Given the description of an element on the screen output the (x, y) to click on. 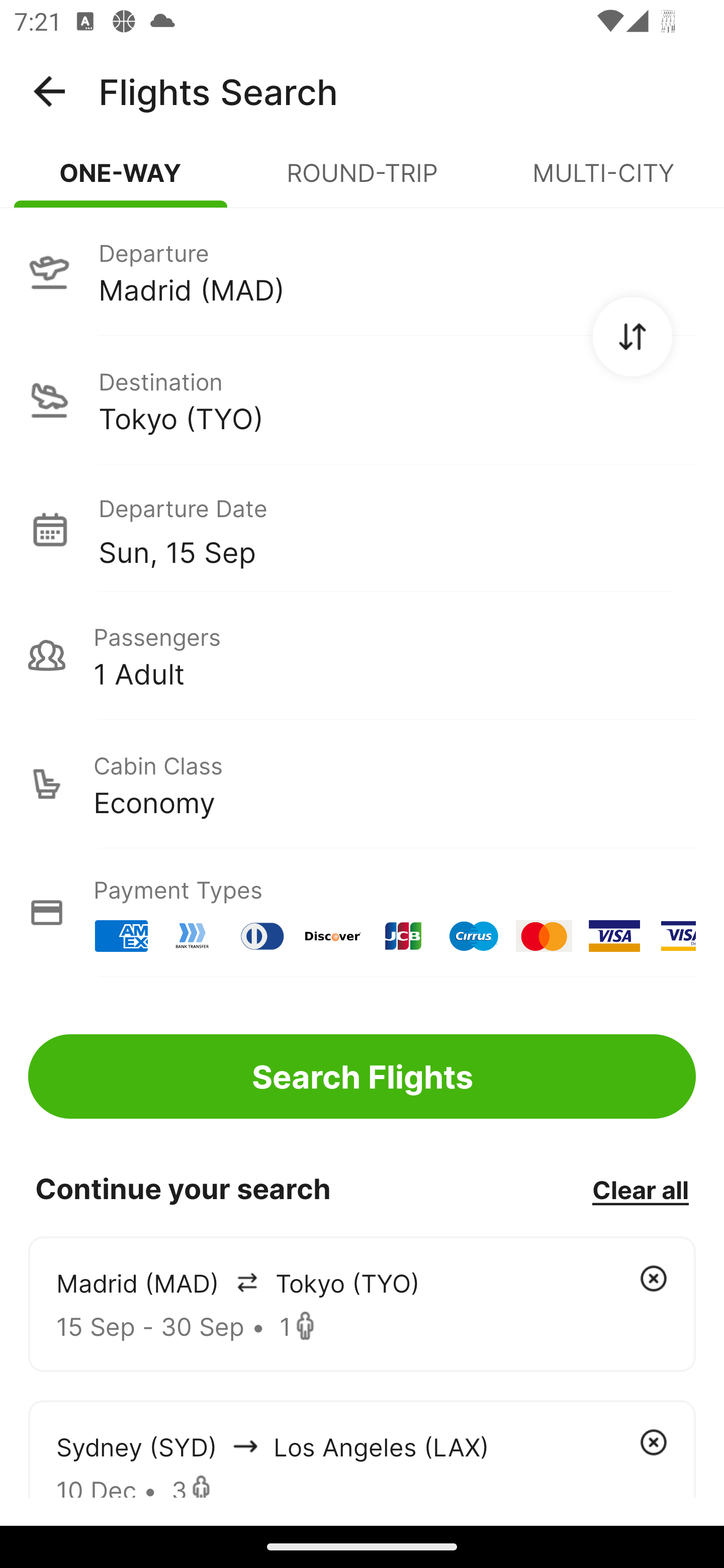
ONE-WAY (120, 180)
ROUND-TRIP (361, 180)
MULTI-CITY (603, 180)
Departure Madrid (MAD) (362, 270)
Destination Tokyo (TYO) (362, 400)
Departure Date Sun, 15 Sep (396, 528)
Passengers 1 Adult (362, 655)
Cabin Class Economy (362, 783)
Payment Types (362, 912)
Search Flights (361, 1075)
Clear all (640, 1189)
